Given the description of an element on the screen output the (x, y) to click on. 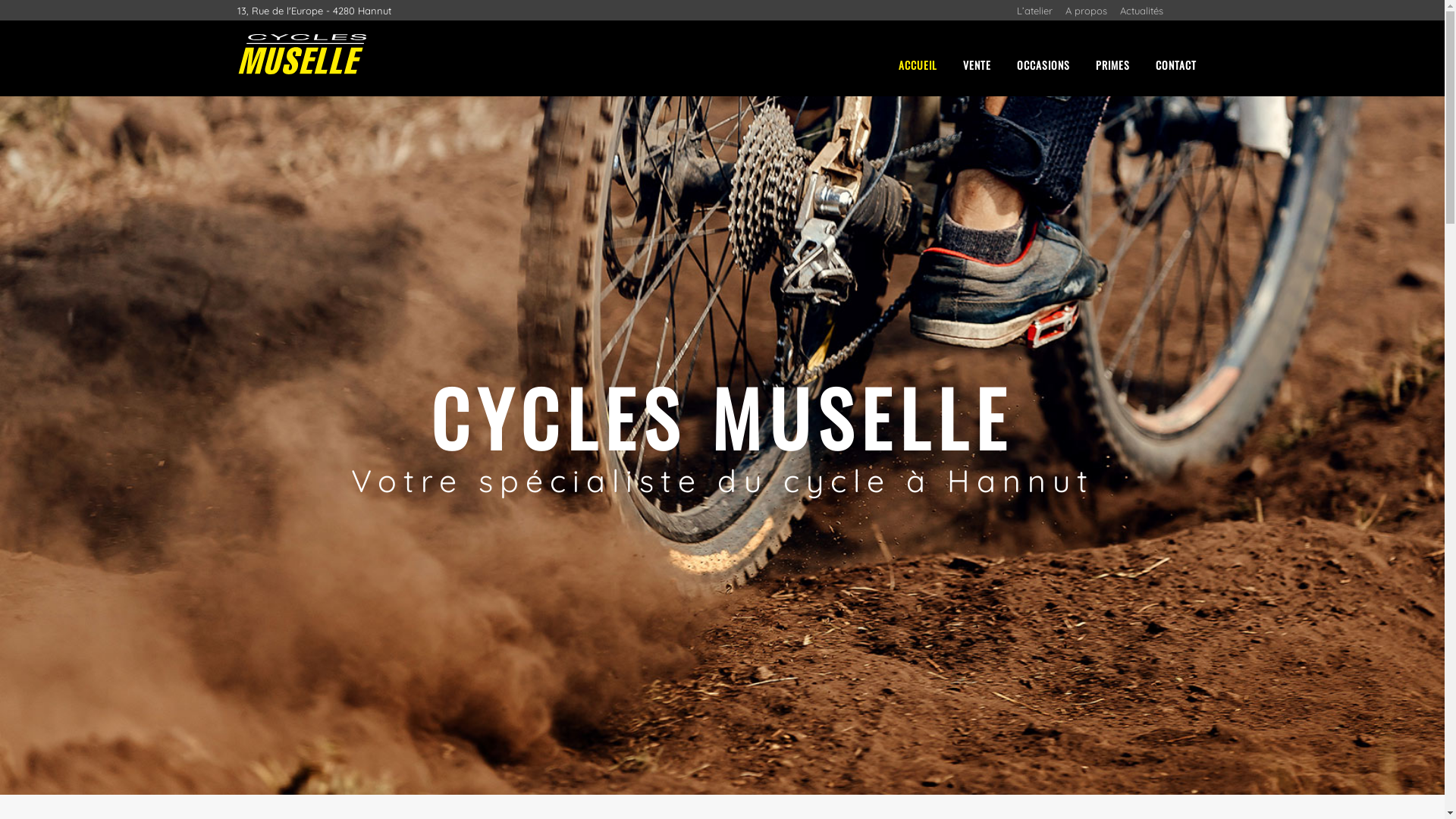
PRIMES Element type: text (1112, 64)
VENTE Element type: text (975, 64)
OCCASIONS Element type: text (1043, 64)
ACCUEIL Element type: text (917, 64)
A propos Element type: text (1085, 10)
CONTACT Element type: text (1175, 64)
